Given the description of an element on the screen output the (x, y) to click on. 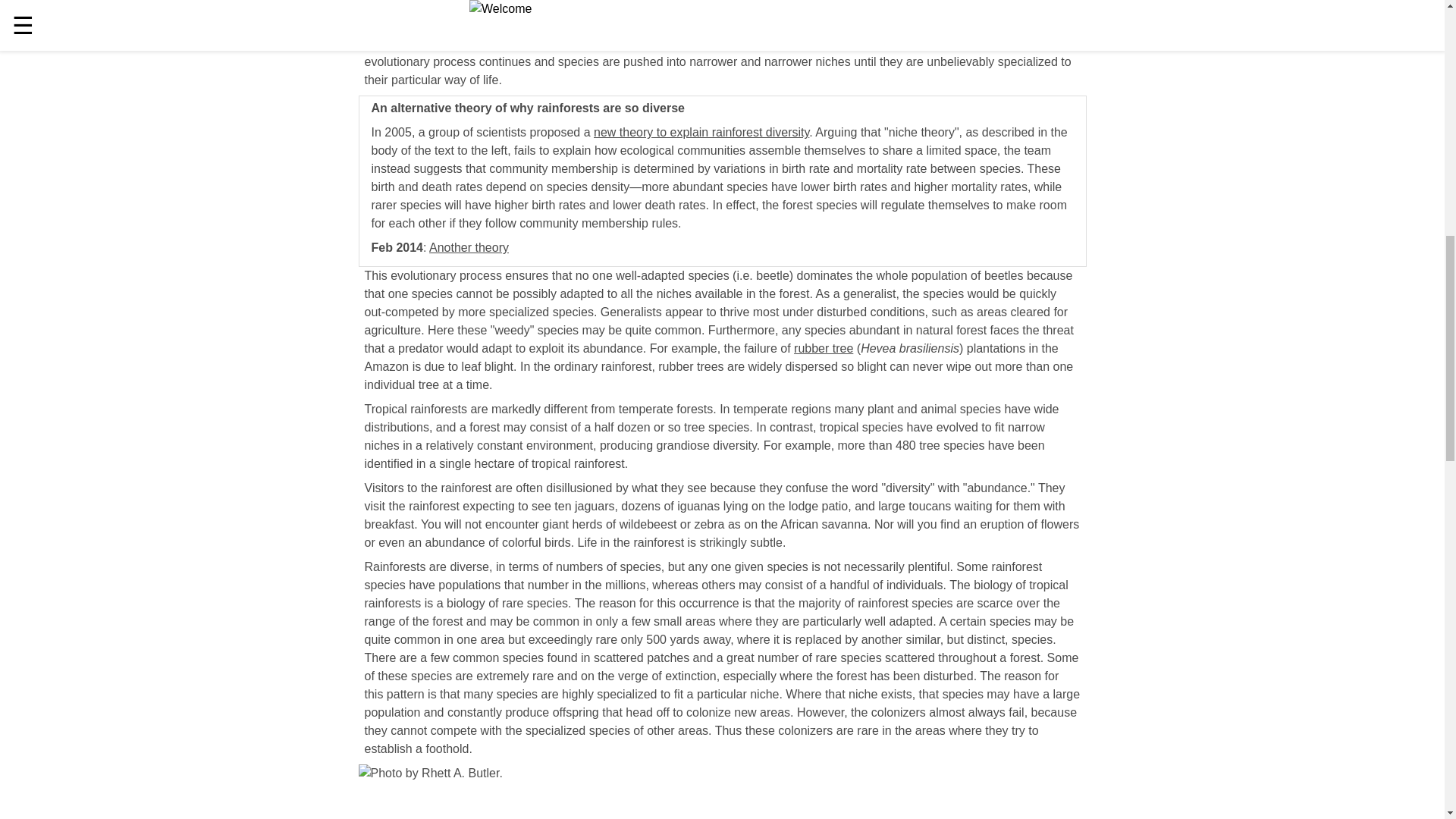
new theory to explain rainforest diversity (701, 132)
rubber tree (823, 348)
Another theory (468, 246)
